Given the description of an element on the screen output the (x, y) to click on. 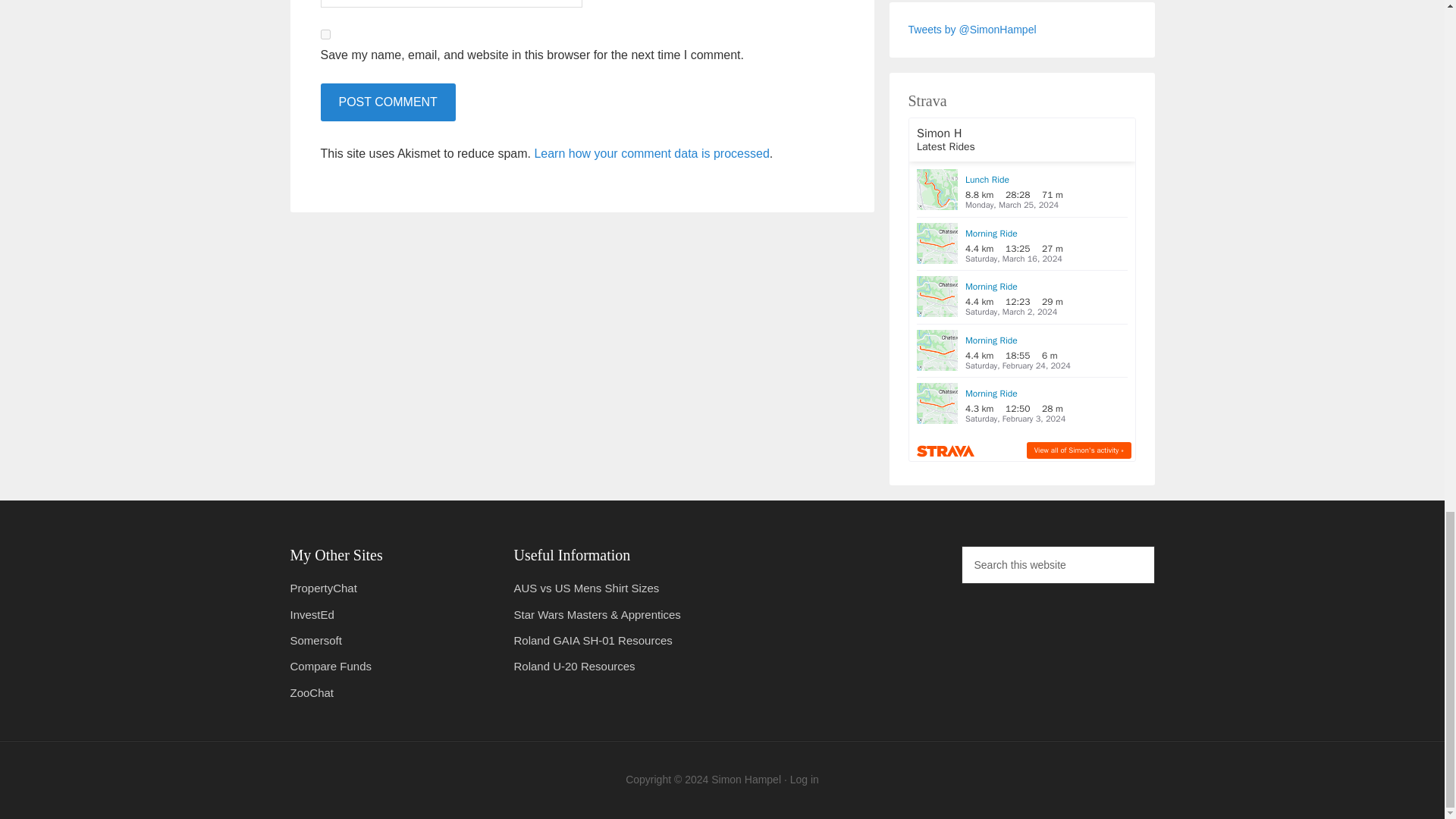
Post Comment (387, 102)
yes (325, 34)
Compare Managed Funds and ETFs (330, 666)
Post Comment (387, 102)
Investor Education (311, 614)
Analysis of Tweets by Australian MPs (322, 587)
Learn how your comment data is processed (651, 153)
